Given the description of an element on the screen output the (x, y) to click on. 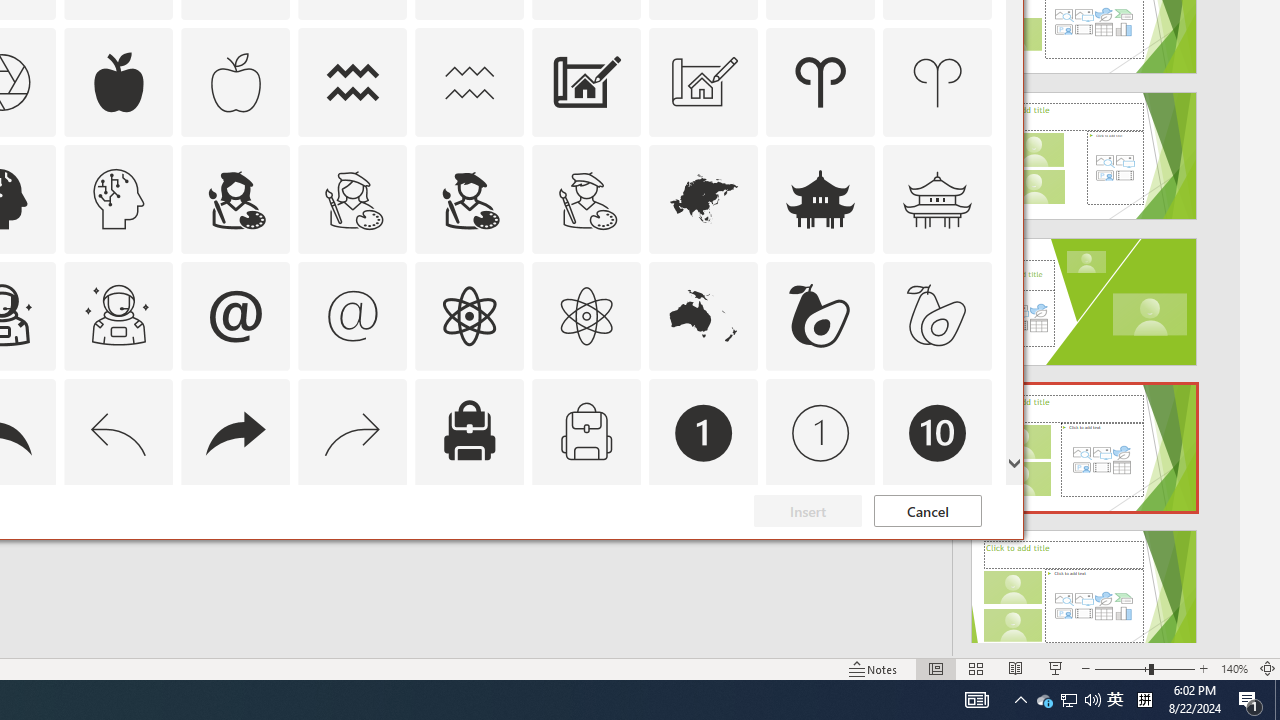
AutomationID: Icons_Badge7 (353, 550)
AutomationID: Icons_Apple_M (235, 82)
AutomationID: Icons_At (235, 316)
AutomationID: Icons_Badge9 (820, 550)
AutomationID: Icons_Australia (703, 316)
AutomationID: Icons_Back_LTR_M (118, 432)
AutomationID: Icons_Apple (118, 82)
